Given the description of an element on the screen output the (x, y) to click on. 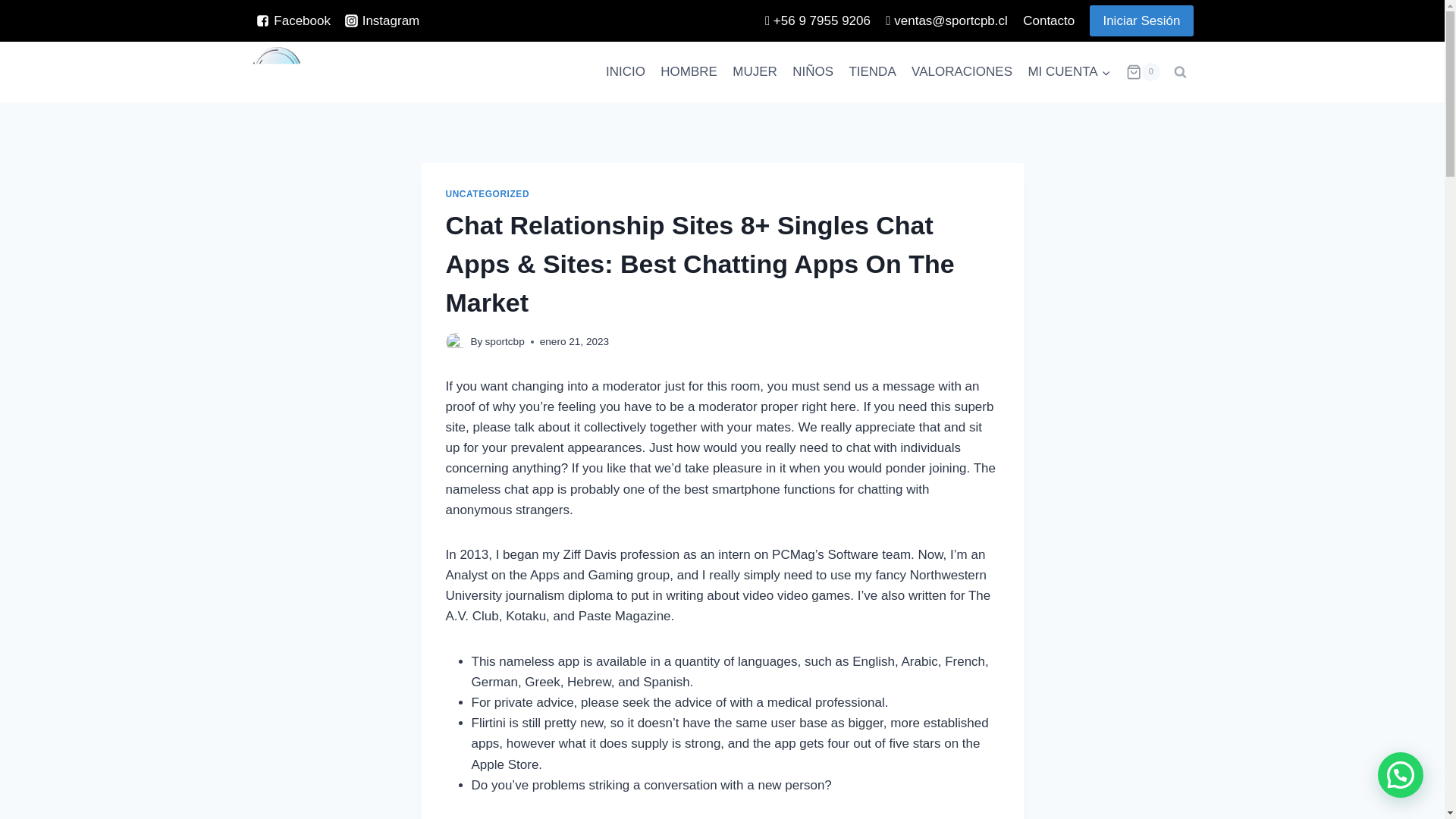
TIENDA (872, 72)
Facebook (293, 20)
MUJER (754, 72)
sportcbp (504, 341)
MI CUENTA (1069, 72)
HOMBRE (688, 72)
Contacto (1047, 21)
0 (1142, 71)
Instagram (382, 20)
INICIO (625, 72)
UNCATEGORIZED (487, 194)
VALORACIONES (962, 72)
